Given the description of an element on the screen output the (x, y) to click on. 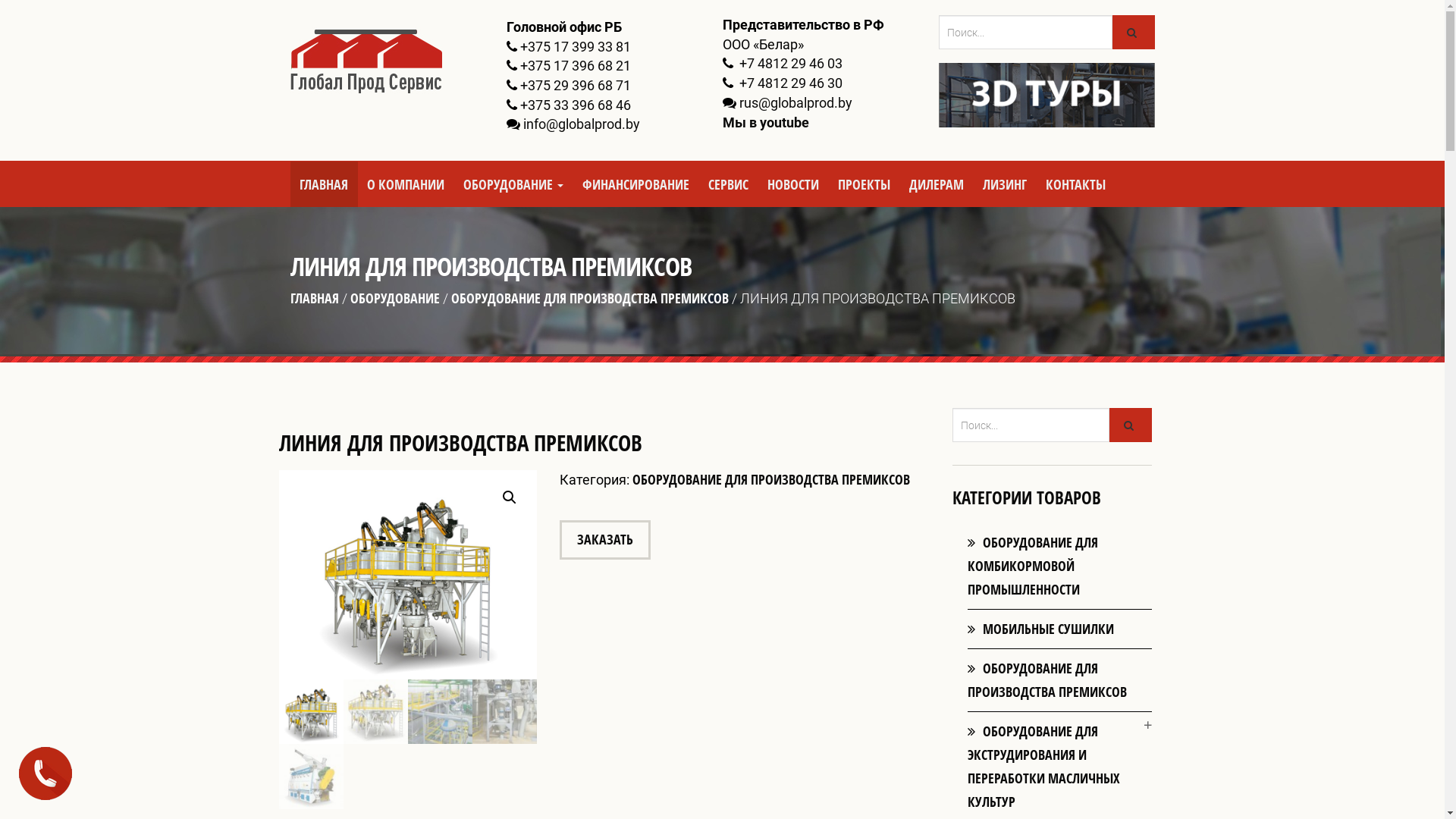
+375 17 399 33 81 Element type: text (575, 46)
+7 4812 29 46 03 Element type: text (788, 63)
premiksi1 Element type: hover (665, 567)
+7 4812 29 46 30 Element type: text (788, 83)
rus@globalprod.by Element type: text (794, 102)
+375 33 396 68 46 Element type: text (575, 104)
+375 29 396 68 71 Element type: text (575, 85)
info@globalprod.by Element type: text (581, 123)
+375 17 396 68 21 Element type: text (575, 65)
